Given the description of an element on the screen output the (x, y) to click on. 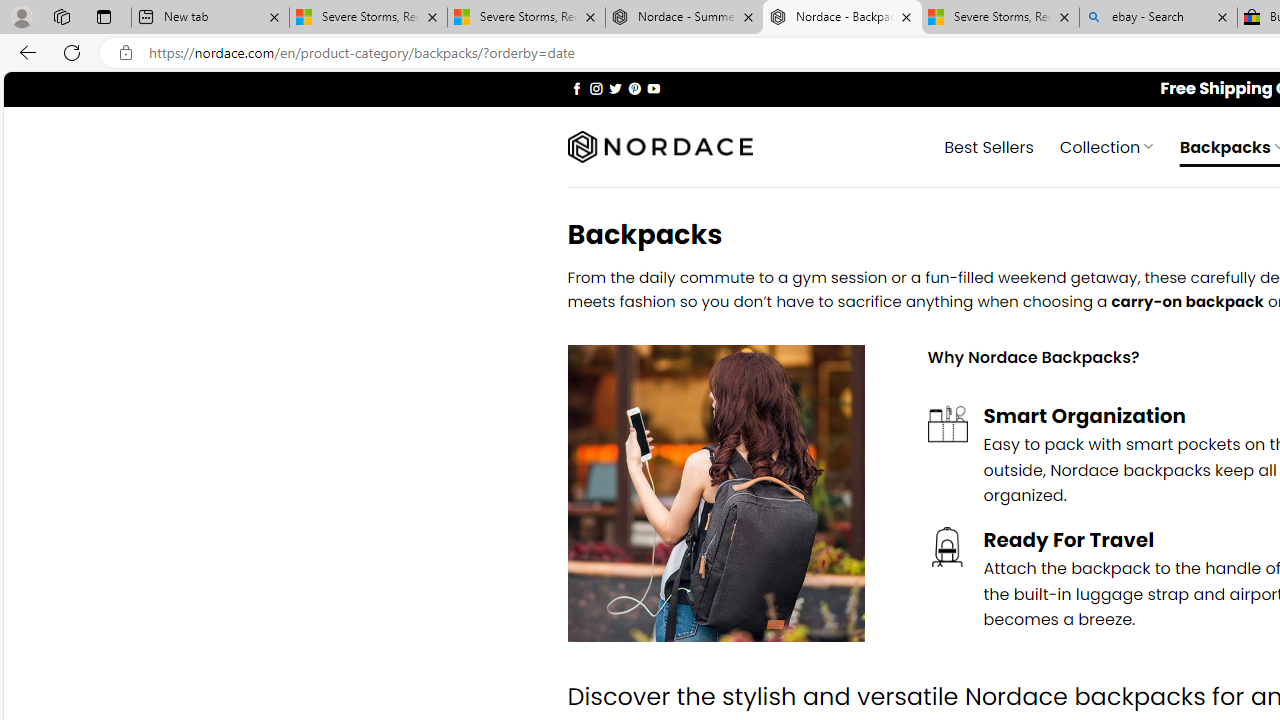
Nordace - Backpacks (842, 17)
Follow on Pinterest (634, 88)
 Best Sellers (989, 146)
Follow on Instagram (596, 88)
Follow on Facebook (576, 88)
